Given the description of an element on the screen output the (x, y) to click on. 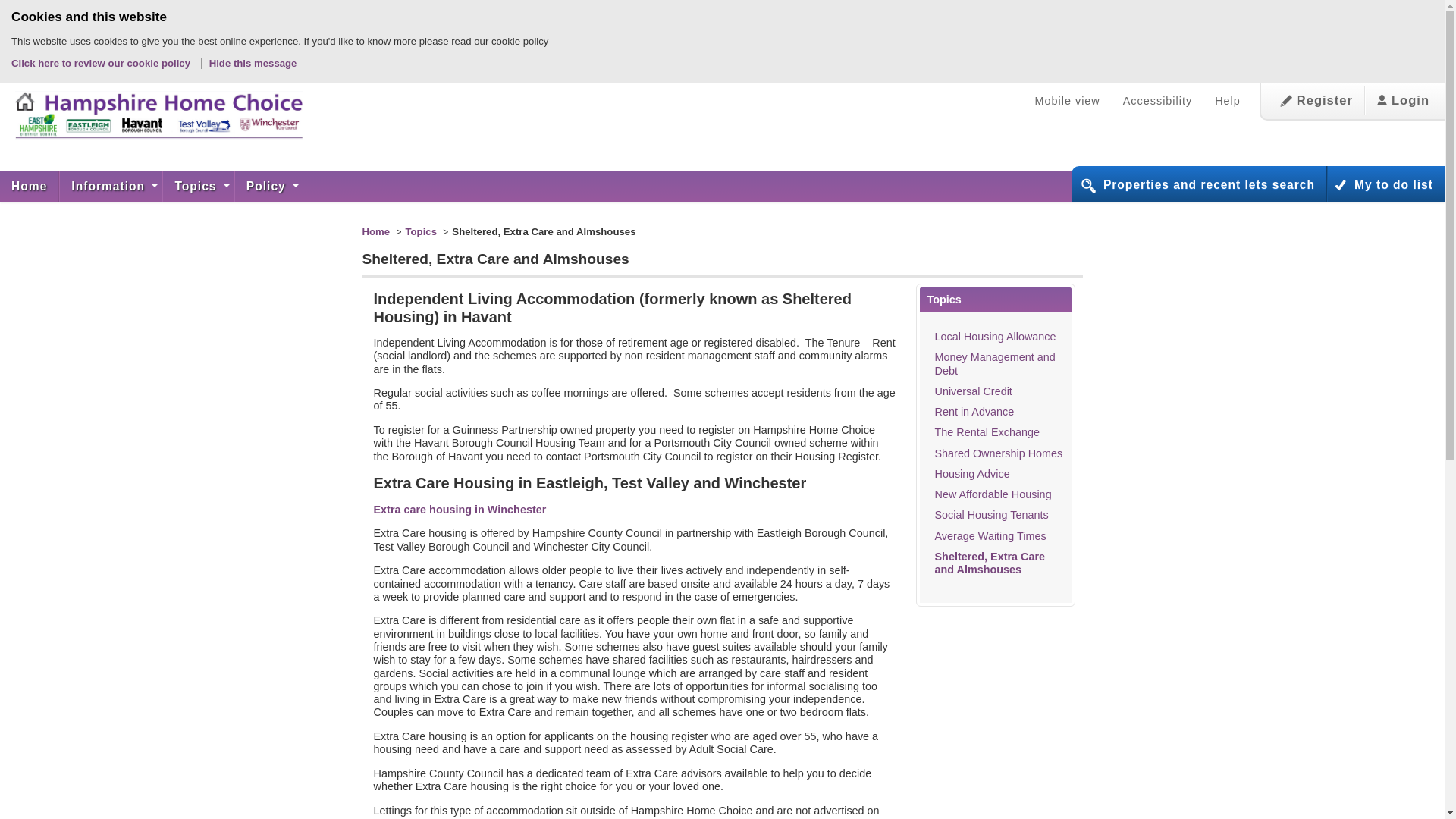
Help (1228, 100)
Register (1316, 100)
Show the Policy menu (268, 186)
Login (1403, 100)
Register (1316, 100)
Hide this message (253, 62)
Topics (197, 186)
Hampshire Homechoice (151, 114)
Click here to review our cookie policy (102, 62)
Show the Topics menu (197, 186)
Accessibility (1158, 100)
Information (110, 186)
Login (1403, 100)
Mobile view (1067, 100)
Policy (268, 186)
